Given the description of an element on the screen output the (x, y) to click on. 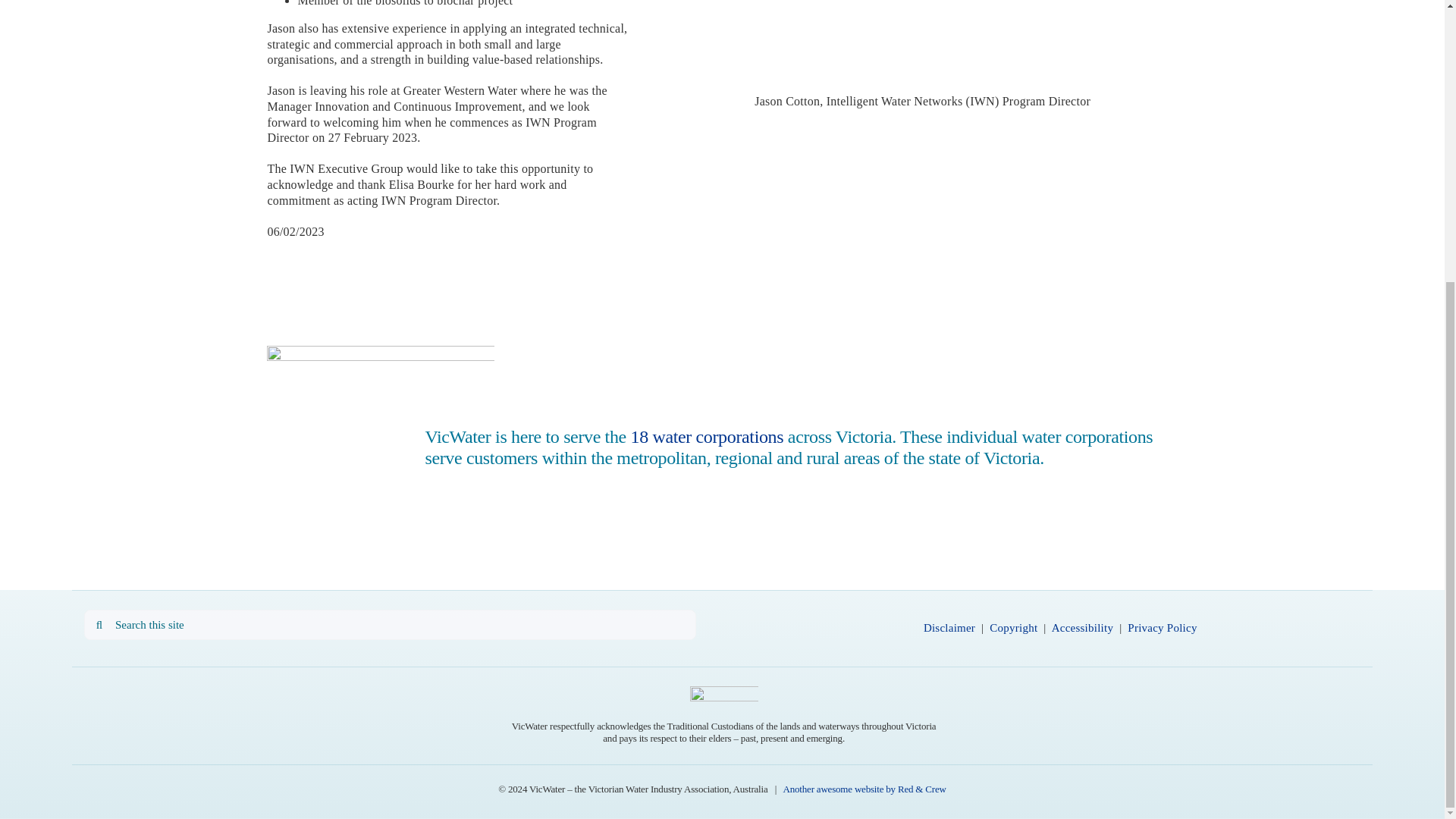
Accessibility (1082, 627)
18 water corporations (707, 436)
jason cotton (922, 47)
Disclaimer (949, 627)
Copyright (1013, 627)
Privacy Policy (1161, 627)
